Given the description of an element on the screen output the (x, y) to click on. 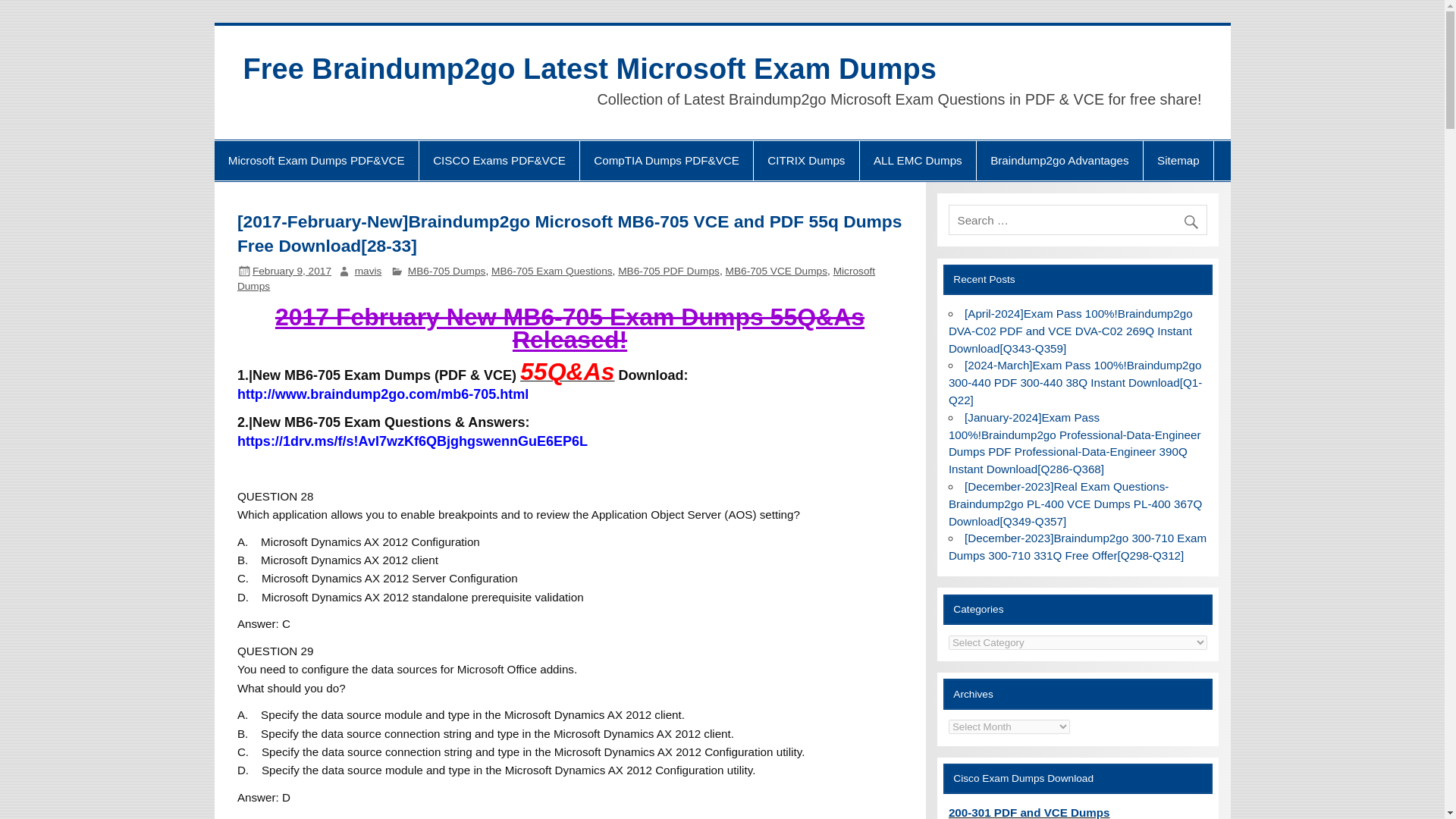
Microsoft Dumps (556, 278)
Free Braindump2go Latest Microsoft Exam Dumps (589, 69)
Sitemap (1177, 160)
Braindump2go Advantages (1059, 160)
CITRIX Dumps (806, 160)
View all posts by mavis (368, 270)
2:52 am (291, 270)
MB6-705 PDF Dumps (668, 270)
MB6-705 Dumps (446, 270)
MB6-705 VCE Dumps (776, 270)
